Given the description of an element on the screen output the (x, y) to click on. 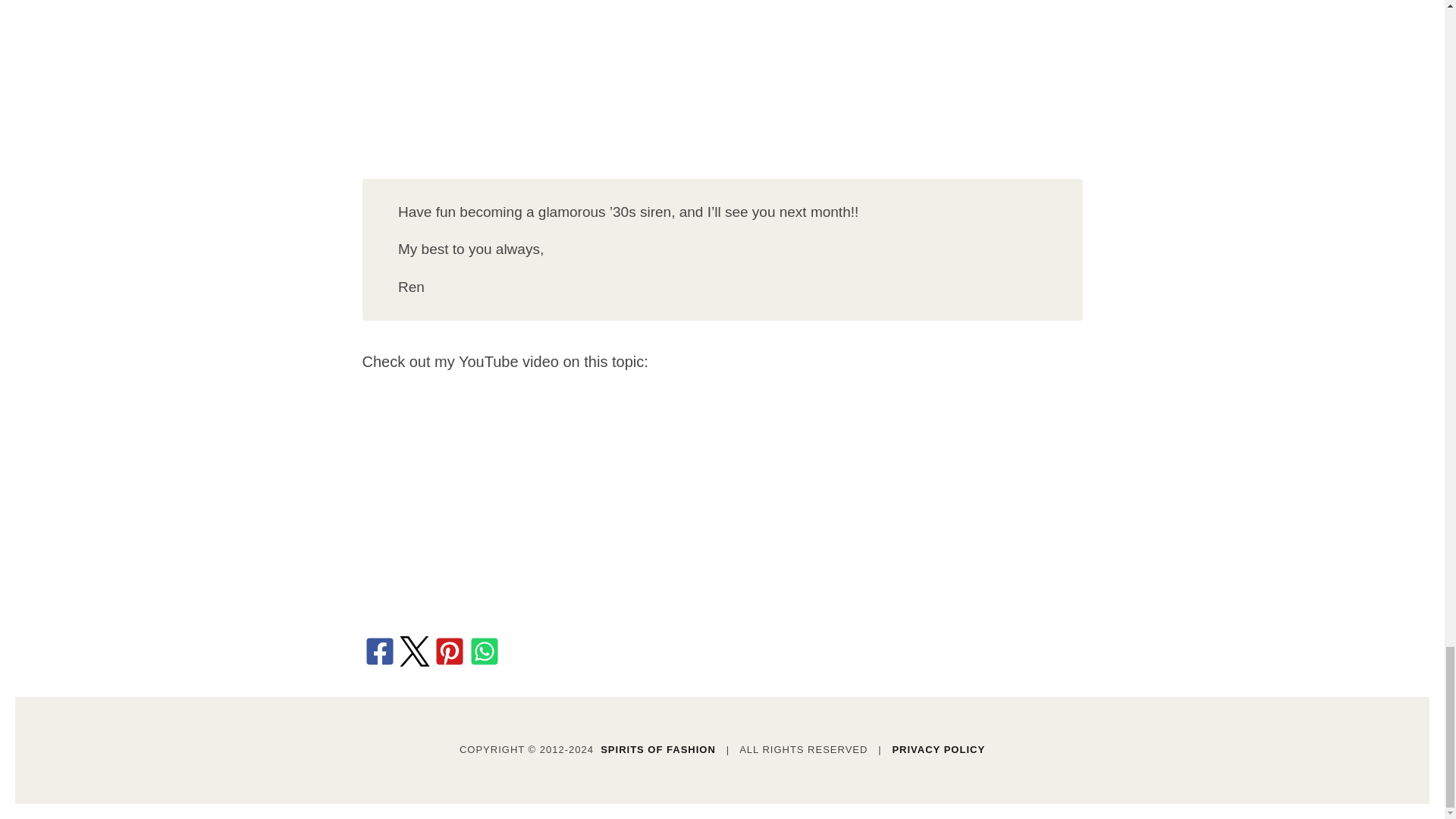
SPIRITS OF FASHION (657, 749)
PRIVACY POLICY (938, 749)
